Given the description of an element on the screen output the (x, y) to click on. 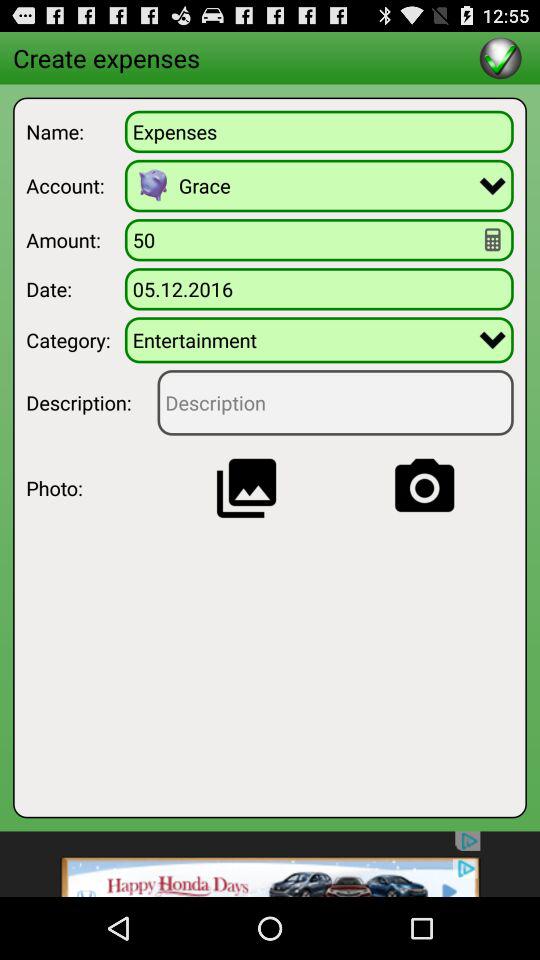
go to advertisement (270, 864)
